Given the description of an element on the screen output the (x, y) to click on. 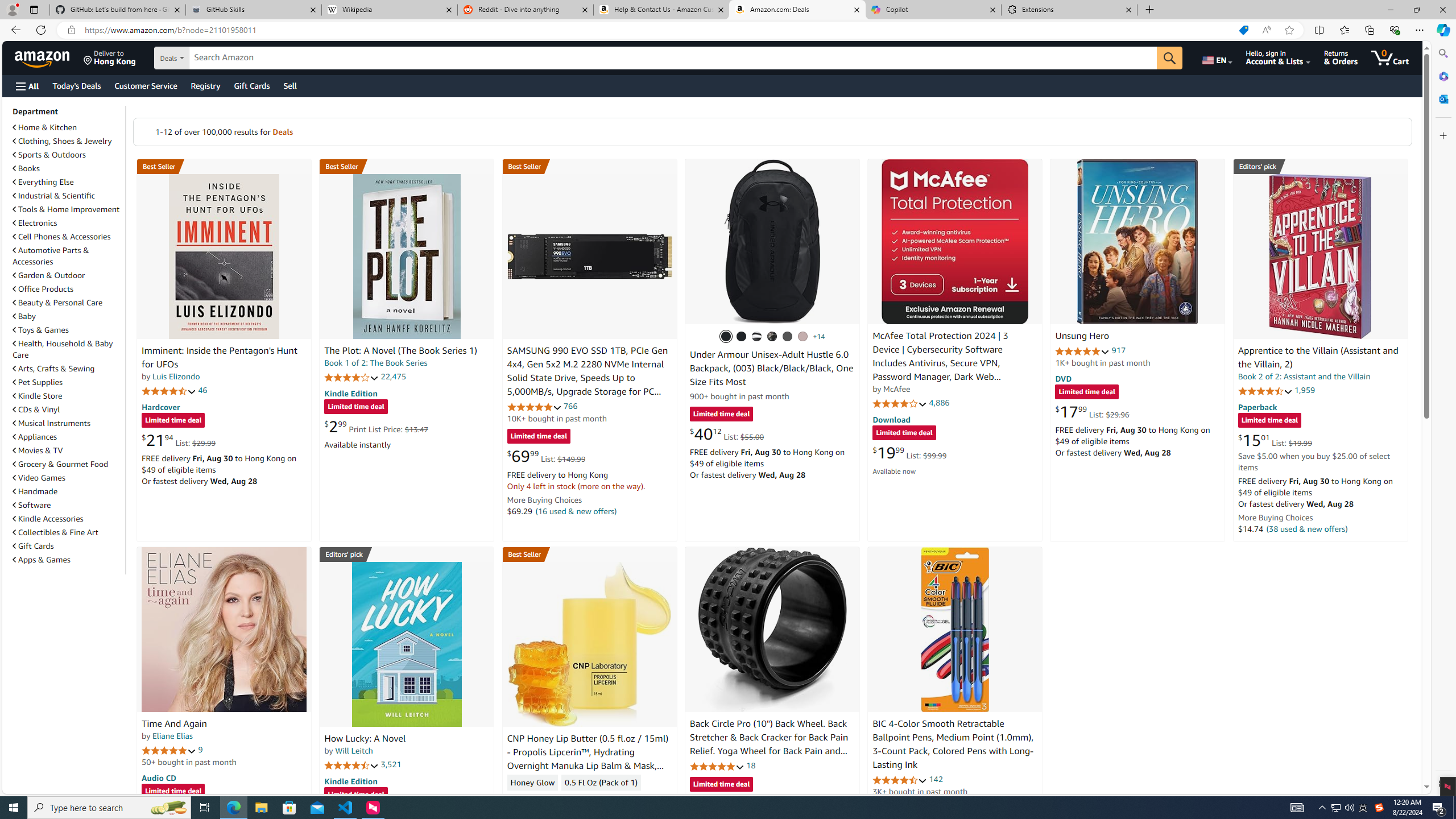
Shopping in Microsoft Edge (1243, 29)
Clothing, Shoes & Jewelry (67, 140)
Beauty & Personal Care (58, 302)
4.8 out of 5 stars (716, 766)
Reddit - Dive into anything (525, 9)
New Tab (1149, 9)
DVD (1063, 378)
Time And Again (224, 628)
4,886 (938, 402)
Search (1442, 53)
Everything Else (43, 181)
Gift Cards (67, 546)
Pet Supplies (67, 382)
